Given the description of an element on the screen output the (x, y) to click on. 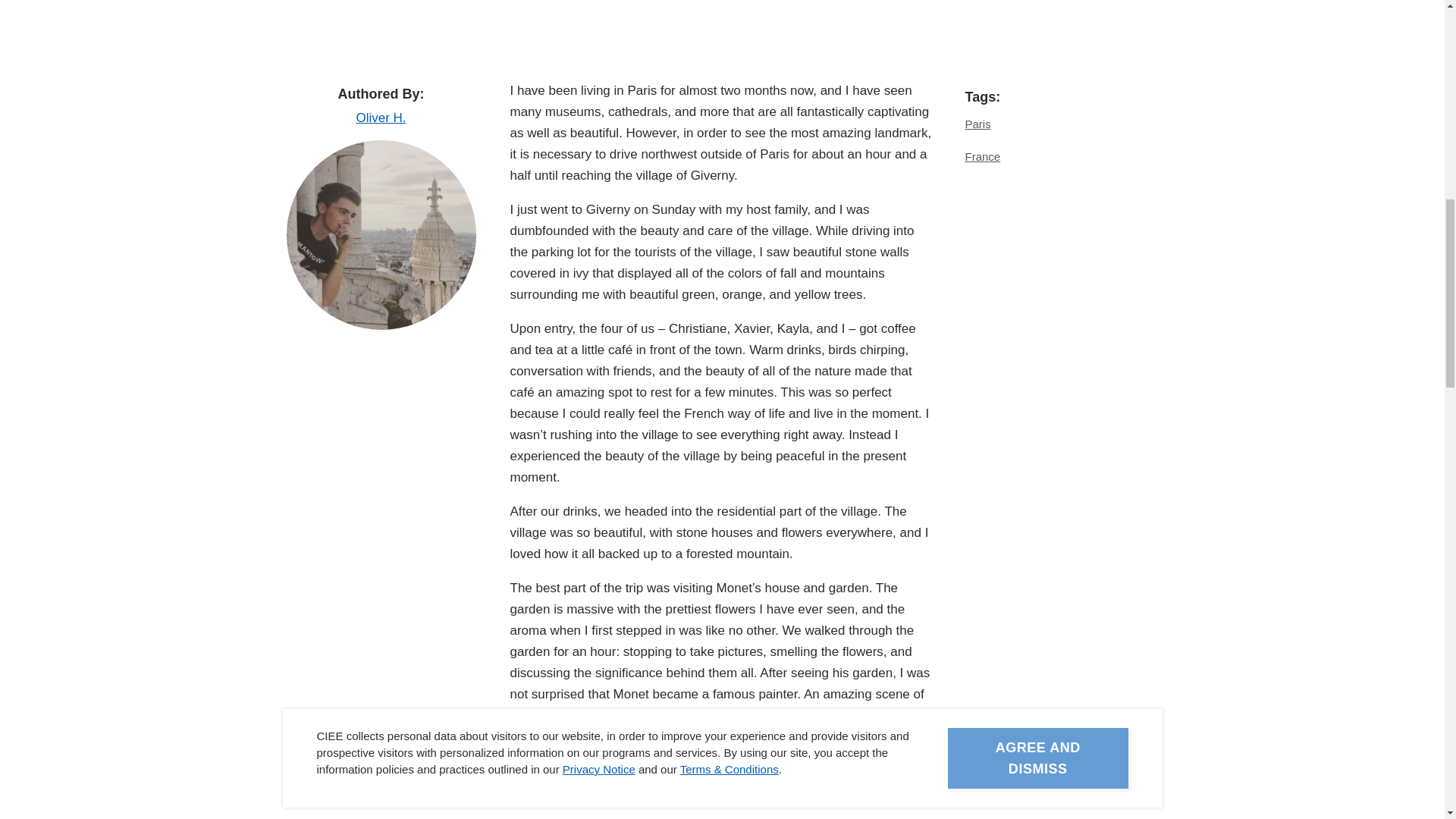
Privacy Notice (598, 42)
AGREE AND DISMISS (1037, 24)
